Given the description of an element on the screen output the (x, y) to click on. 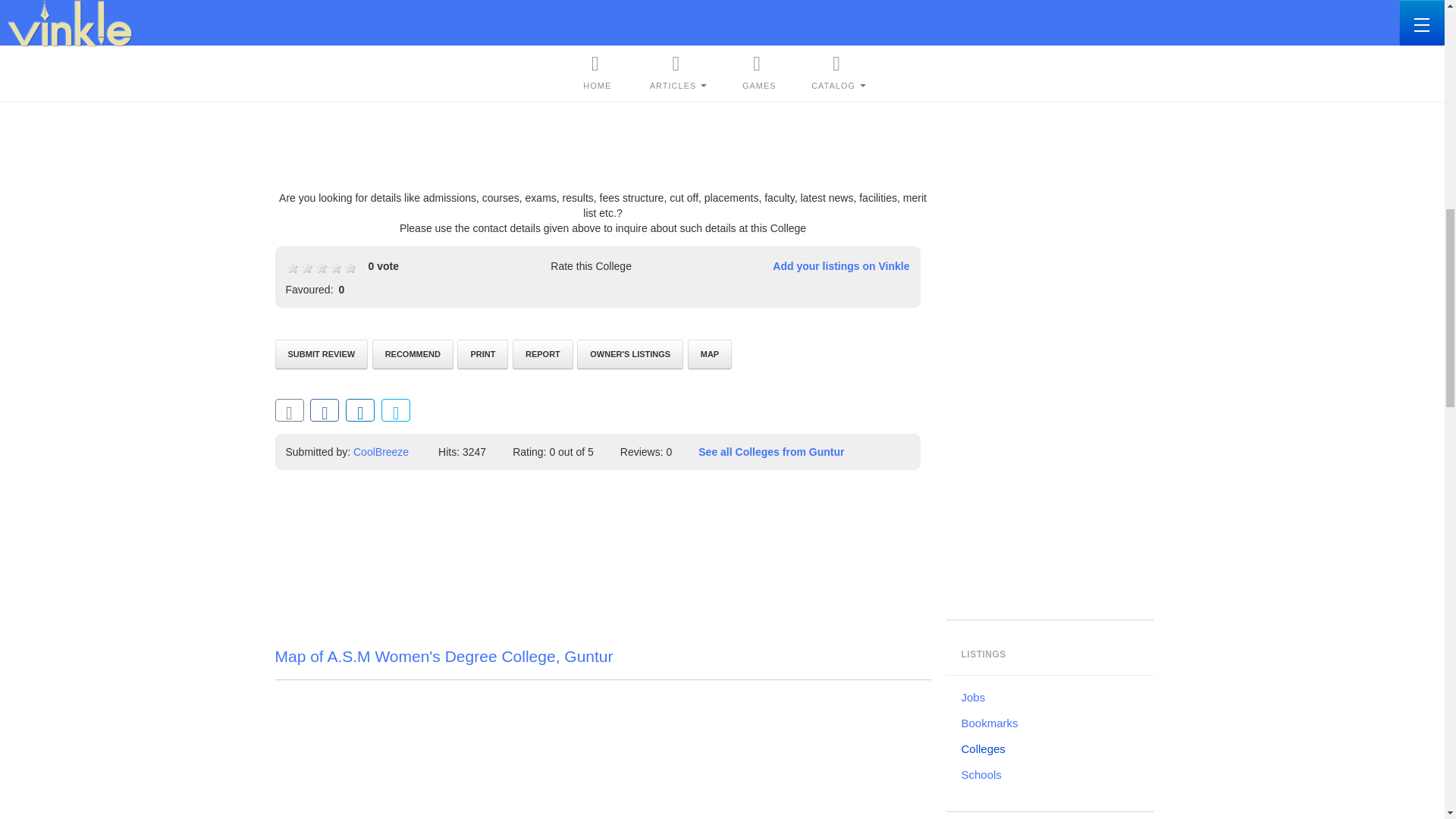
Share via Email (288, 409)
Advertisement (602, 95)
Print (482, 354)
